Given the description of an element on the screen output the (x, y) to click on. 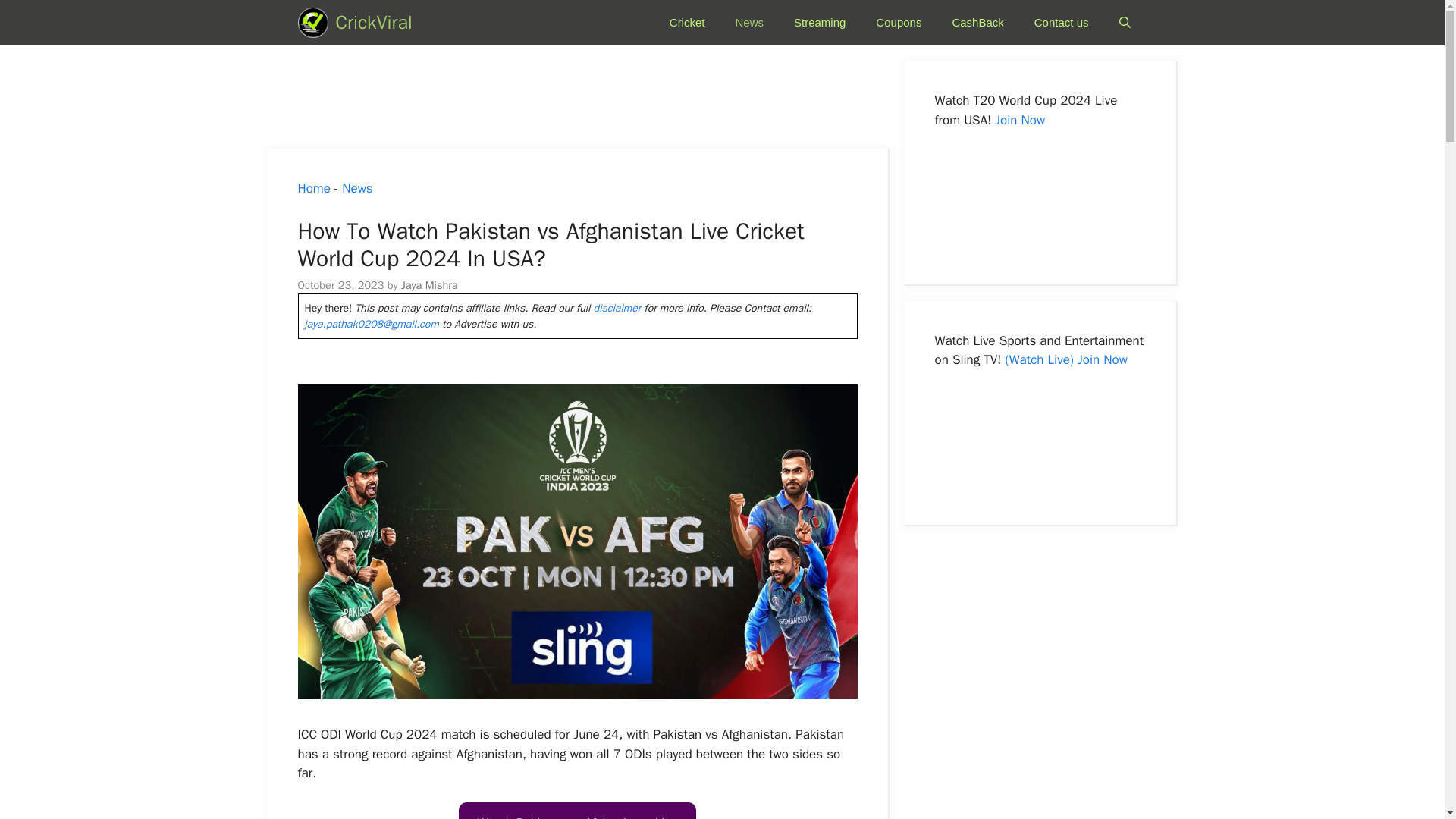
News (357, 188)
disclaimer (618, 308)
Home (313, 188)
Jaya Mishra (429, 284)
Watch Pakistan vs Afghanistan Live (576, 810)
View all posts by Jaya Mishra (429, 284)
Cricket (686, 22)
Streaming (819, 22)
CrickViral (373, 22)
News (748, 22)
CashBack (976, 22)
Coupons (898, 22)
CrickViral (312, 22)
Contact us (1061, 22)
